Given the description of an element on the screen output the (x, y) to click on. 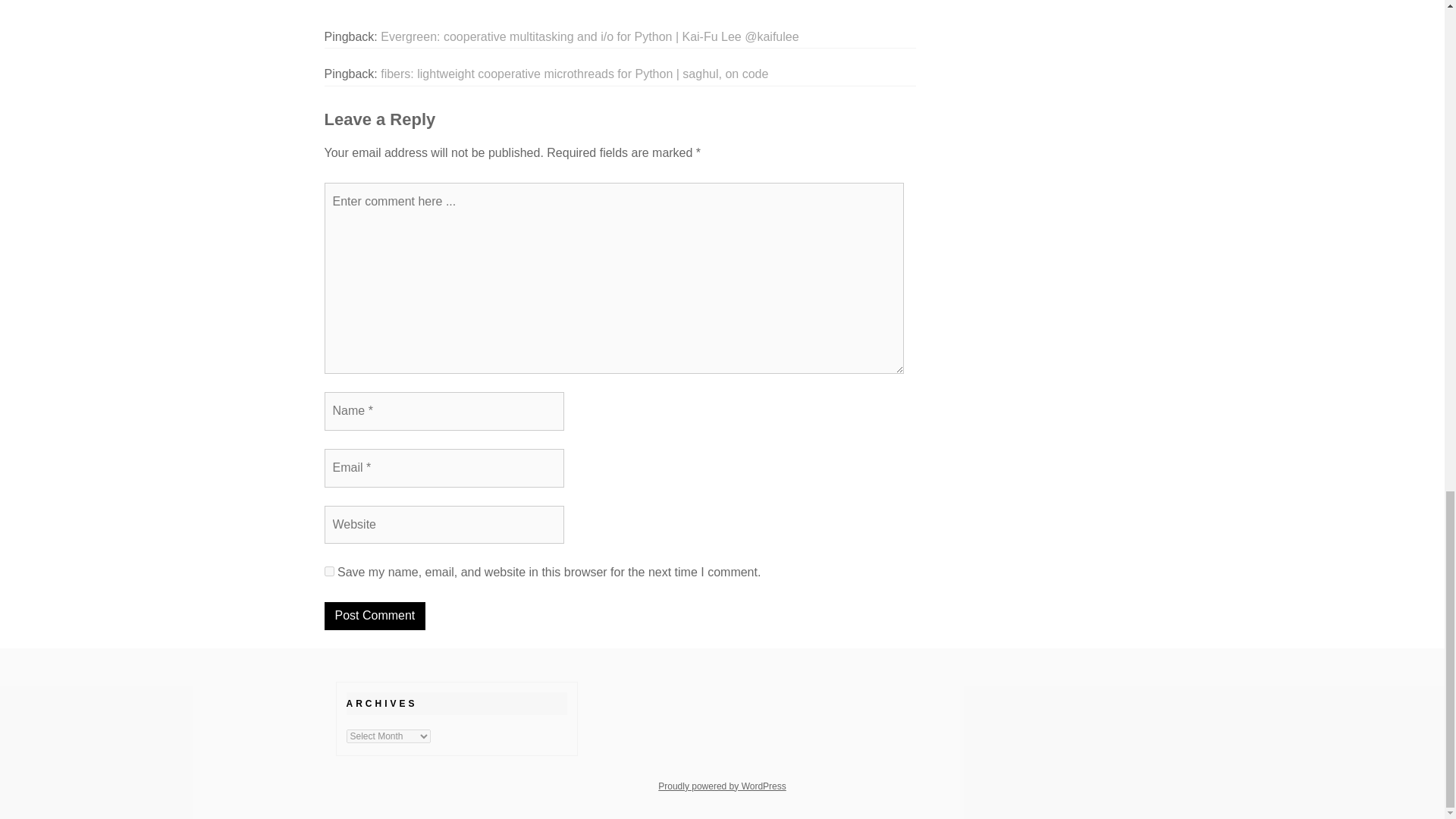
Post Comment (375, 615)
Post Comment (375, 615)
yes (329, 571)
